Given the description of an element on the screen output the (x, y) to click on. 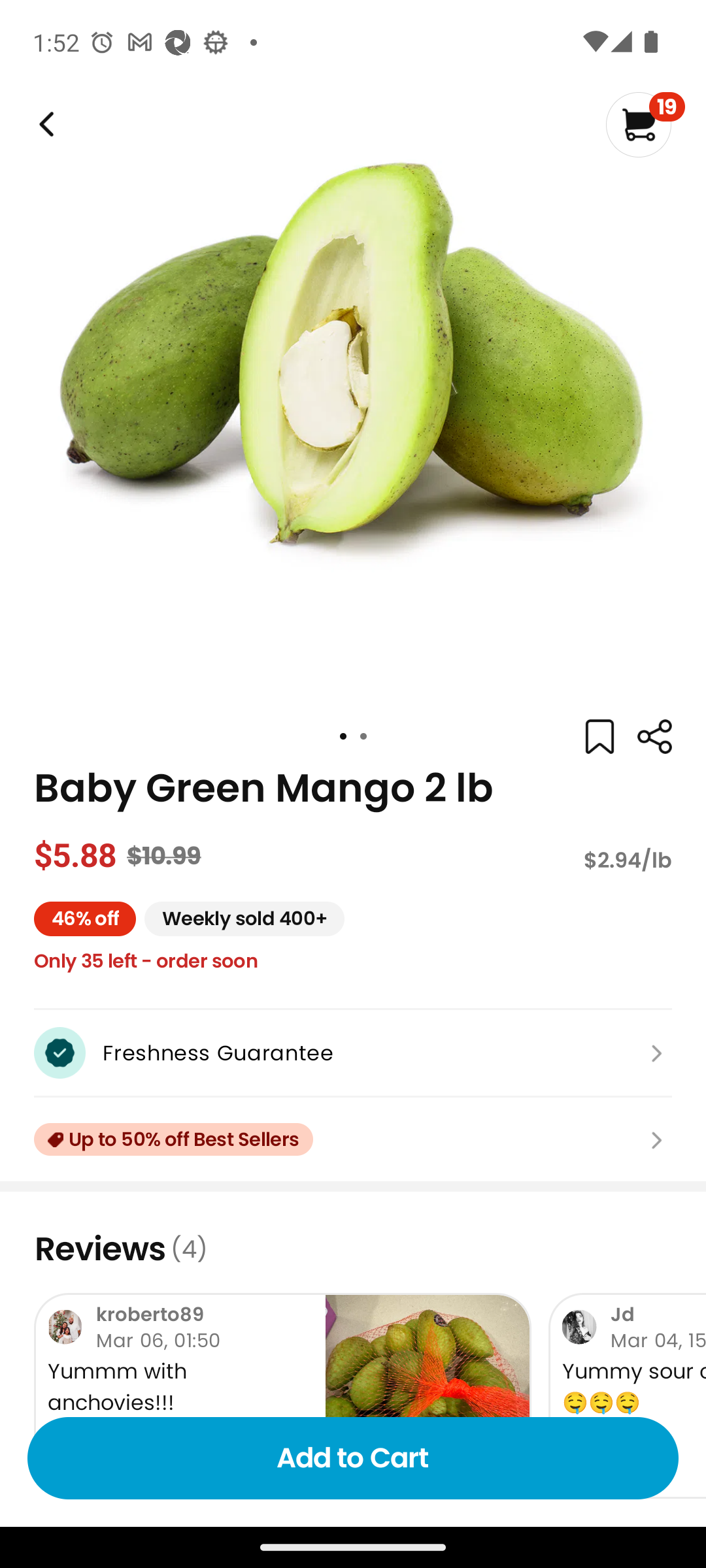
19 (644, 124)
Weee! (45, 124)
Weee! (653, 736)
Freshness Guarantee (352, 1052)
Up to 50% off Best Sellers (352, 1138)
Reviews (4) (353, 1248)
kroberto89 Mar 06, 01:50 Yummm with anchovies!!! (282, 1396)
Add to Cart (352, 1458)
